Given the description of an element on the screen output the (x, y) to click on. 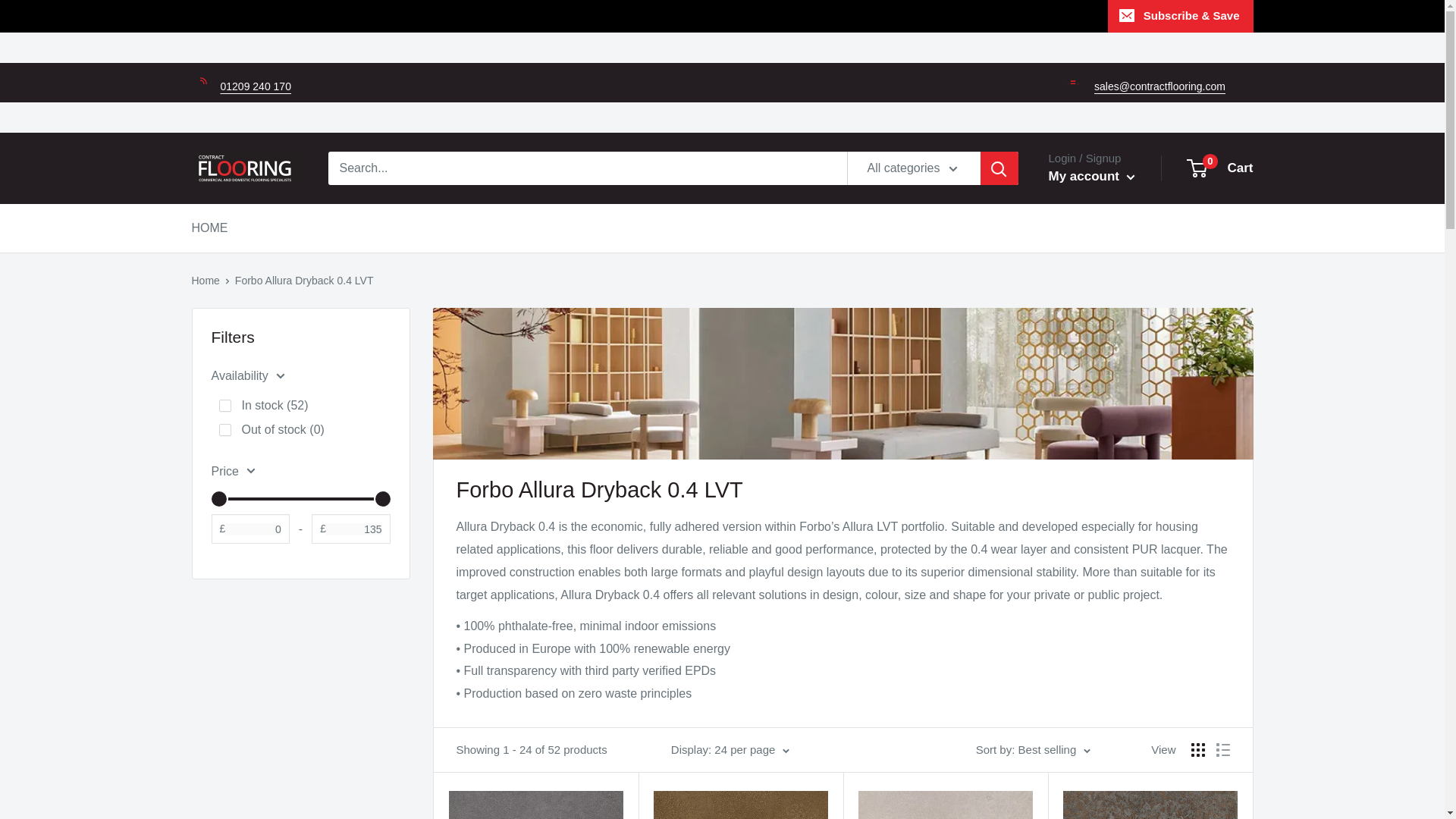
tel:01209 240 170 (254, 86)
1 (224, 405)
My account (1091, 176)
Availability (300, 375)
Forbo Allura Dryback 0.4 LVT (304, 280)
01209 240 170 (254, 86)
0 (224, 429)
135 (300, 498)
Price (300, 471)
Contract Flooring (243, 168)
